Given the description of an element on the screen output the (x, y) to click on. 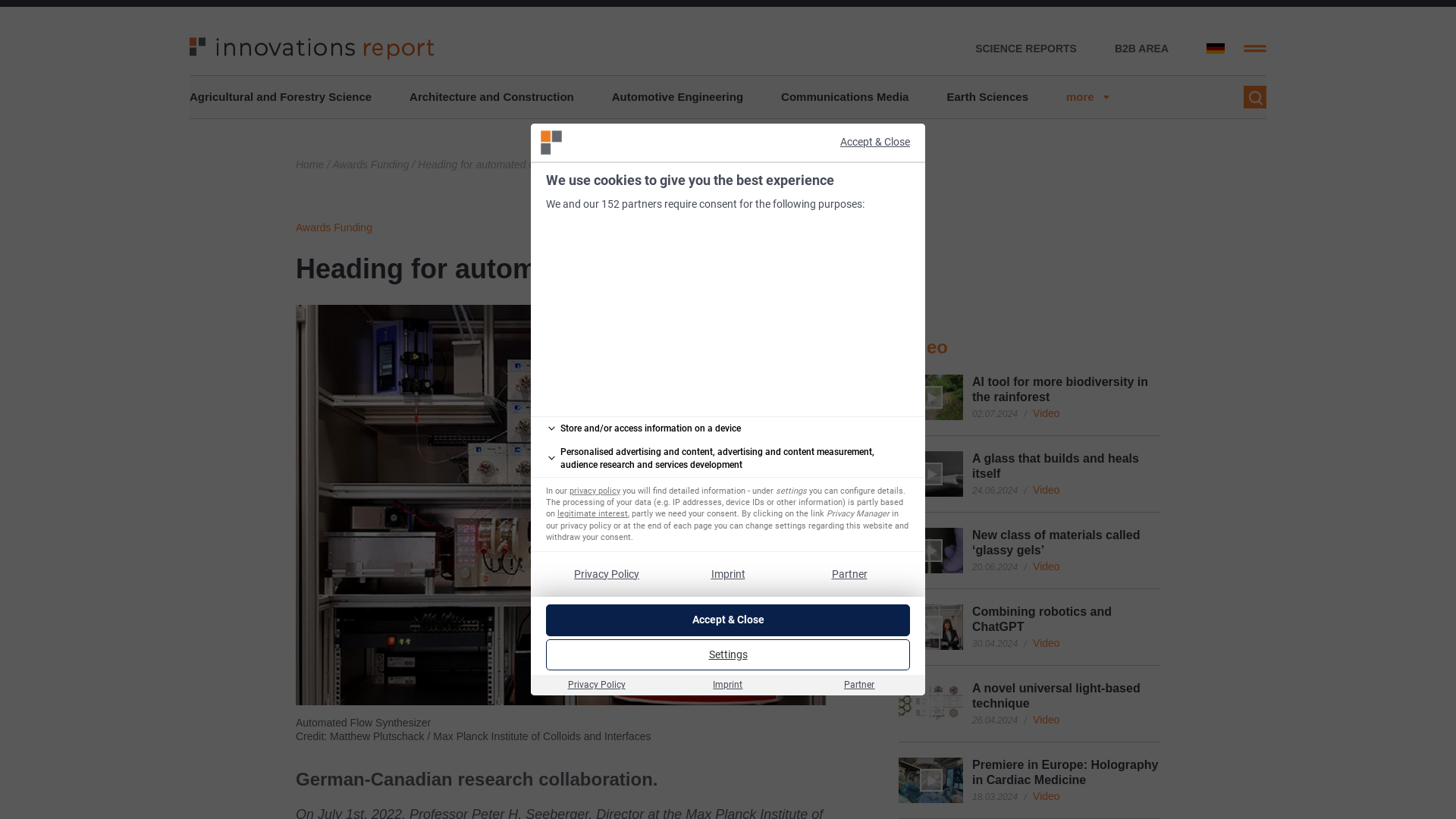
Earth Sciences (986, 96)
Architecture and Construction (491, 96)
Automotive Engineering (676, 96)
B2B AREA (1142, 48)
SCIENCE REPORTS (1026, 48)
Agricultural and Forestry Science (280, 96)
Communications Media (844, 96)
